Given the description of an element on the screen output the (x, y) to click on. 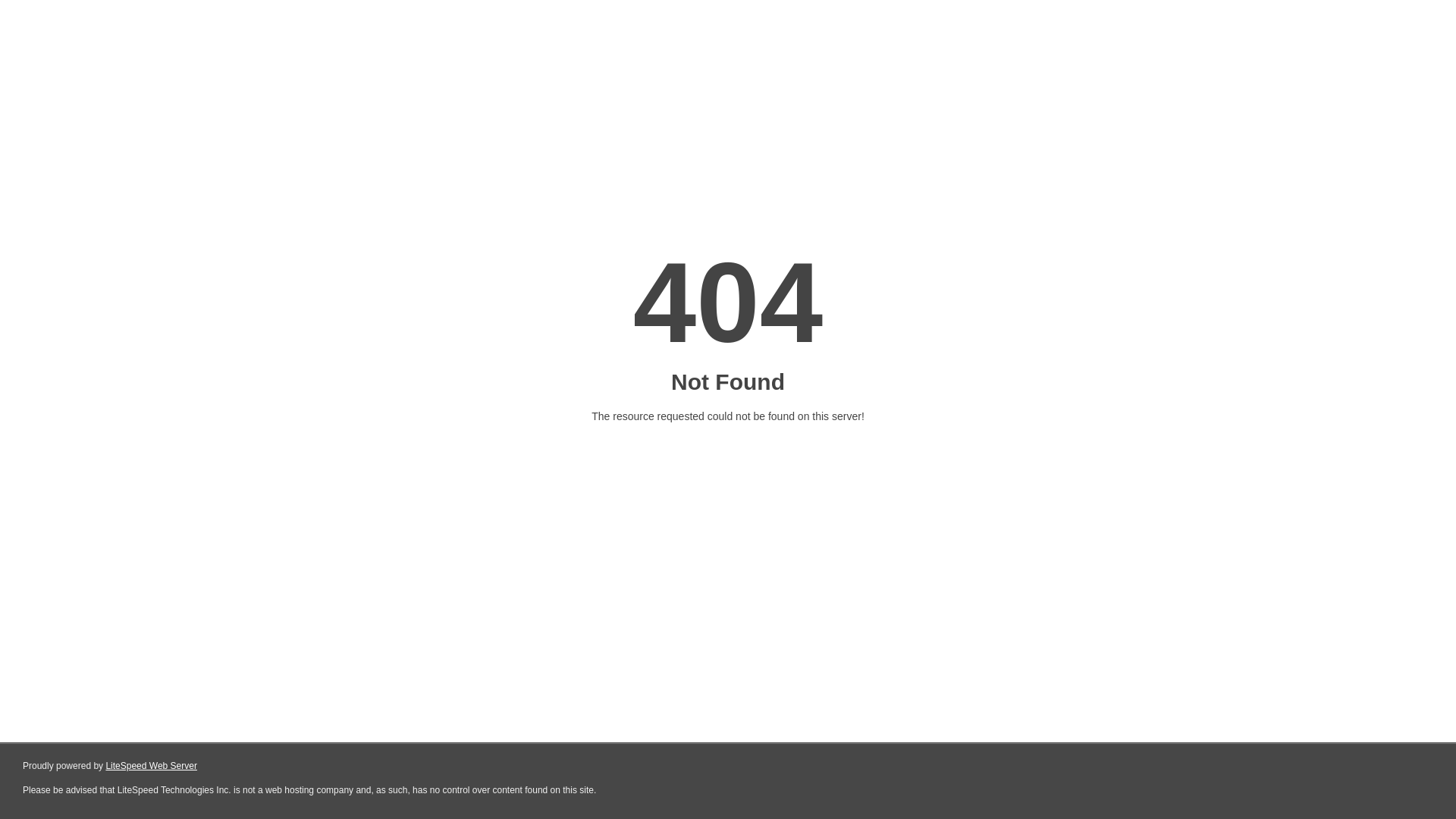
LiteSpeed Web Server Element type: text (151, 765)
